Given the description of an element on the screen output the (x, y) to click on. 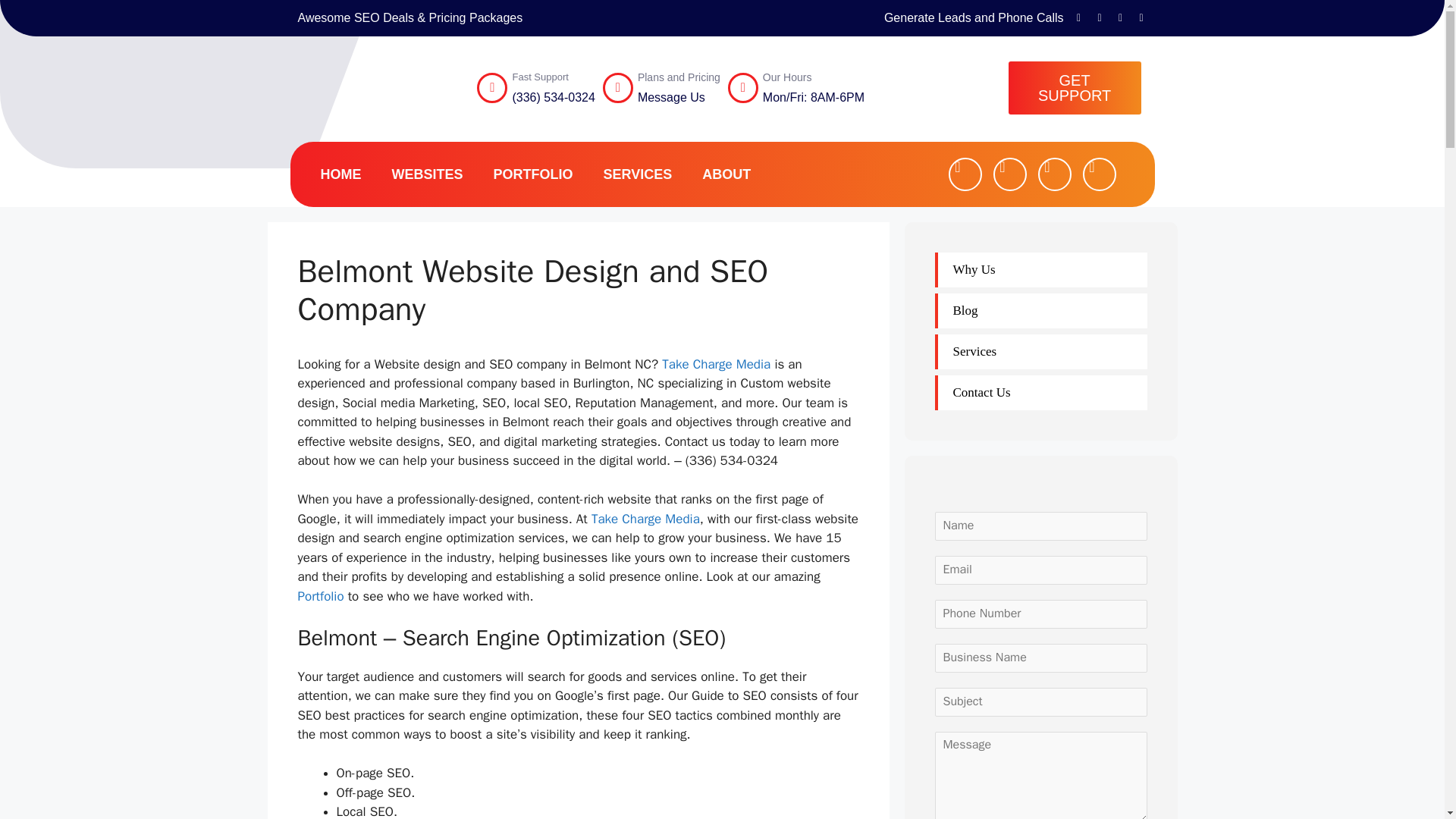
Plans and Pricing (678, 77)
GET SUPPORT (1075, 87)
Fast Support (539, 76)
